Given the description of an element on the screen output the (x, y) to click on. 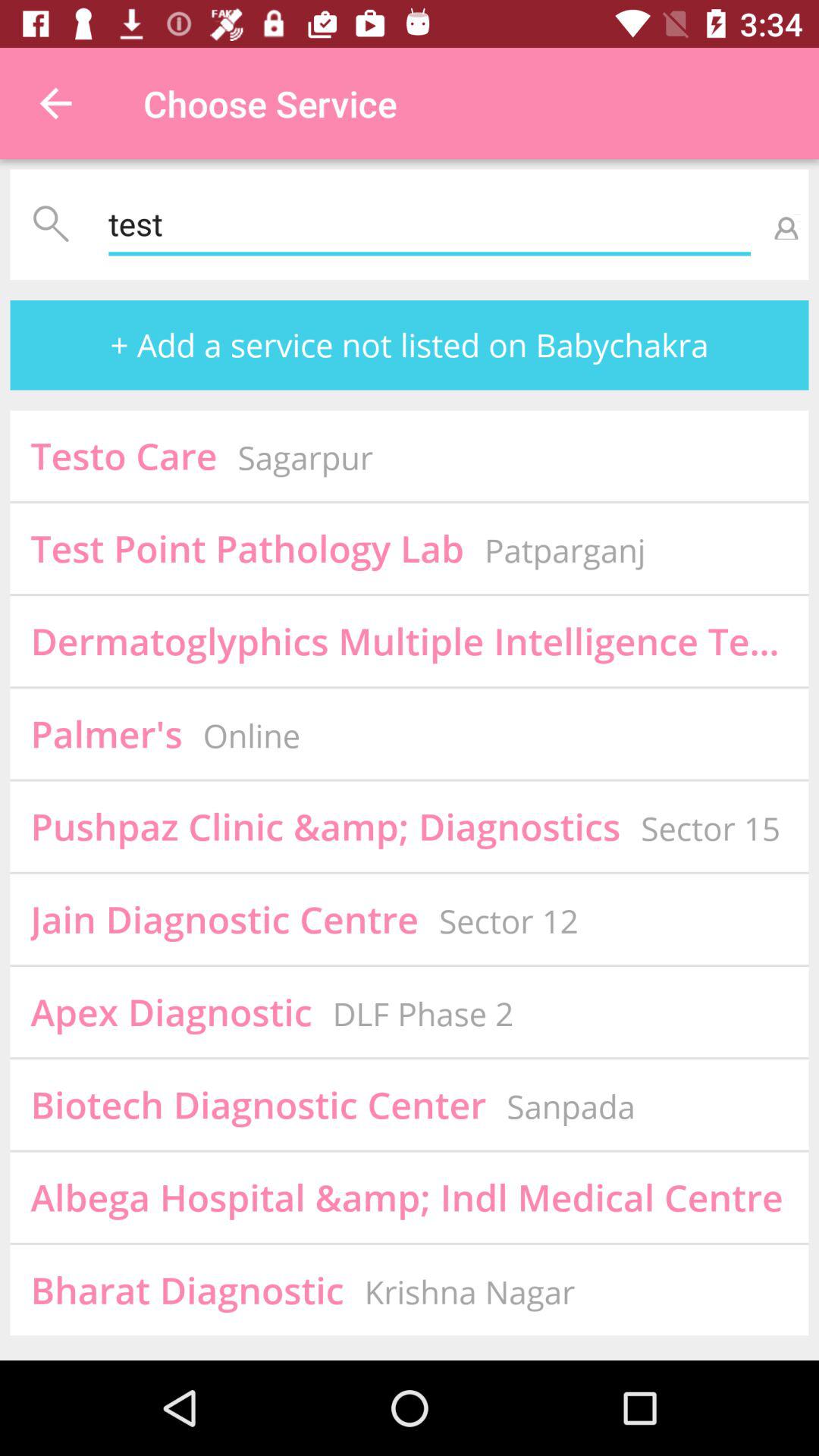
turn off the icon below testo care item (247, 548)
